Given the description of an element on the screen output the (x, y) to click on. 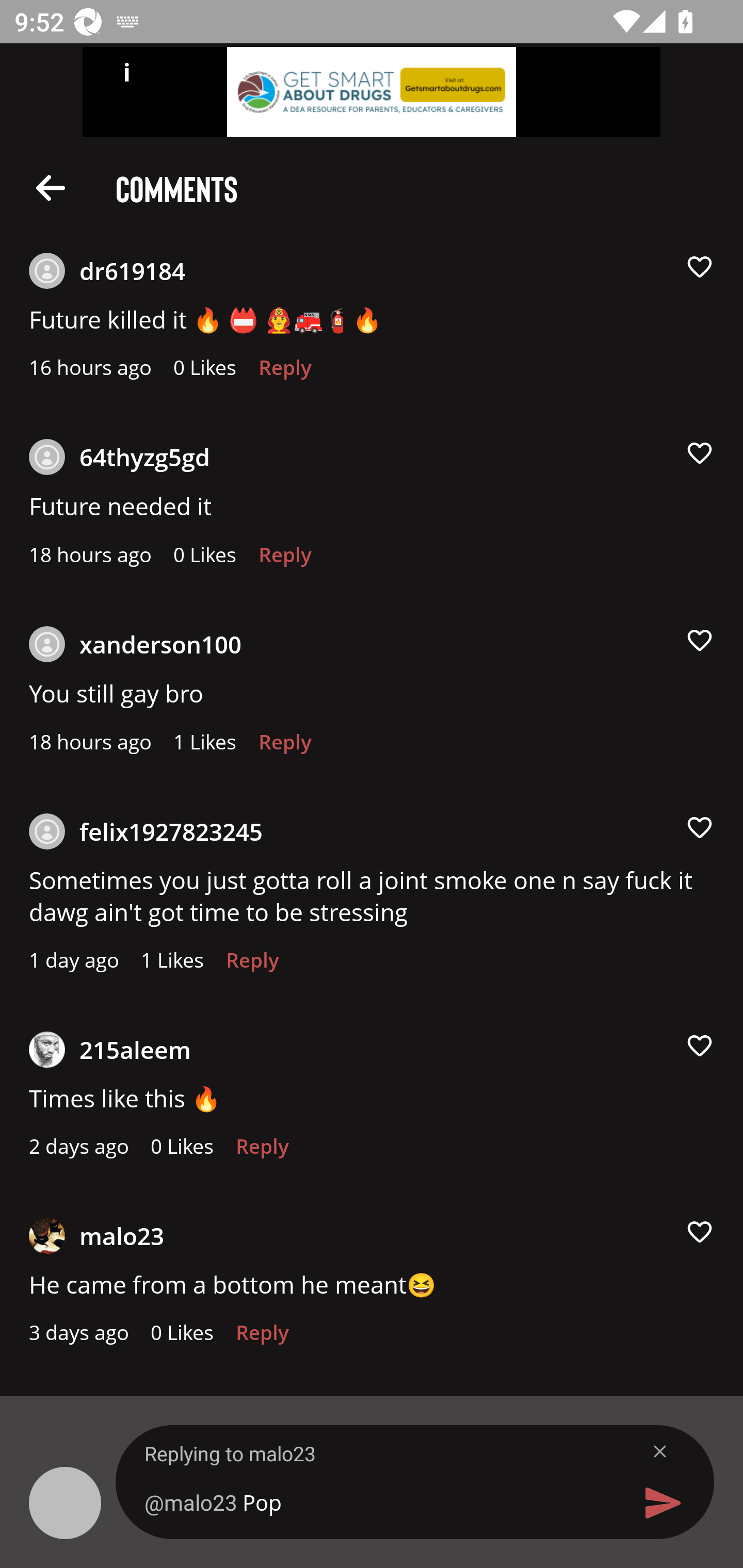
Description (50, 187)
Reply (285, 372)
Reply (285, 559)
Reply (285, 747)
Reply (252, 964)
Reply (261, 1151)
Reply (261, 1337)
Pop (378, 1502)
